Given the description of an element on the screen output the (x, y) to click on. 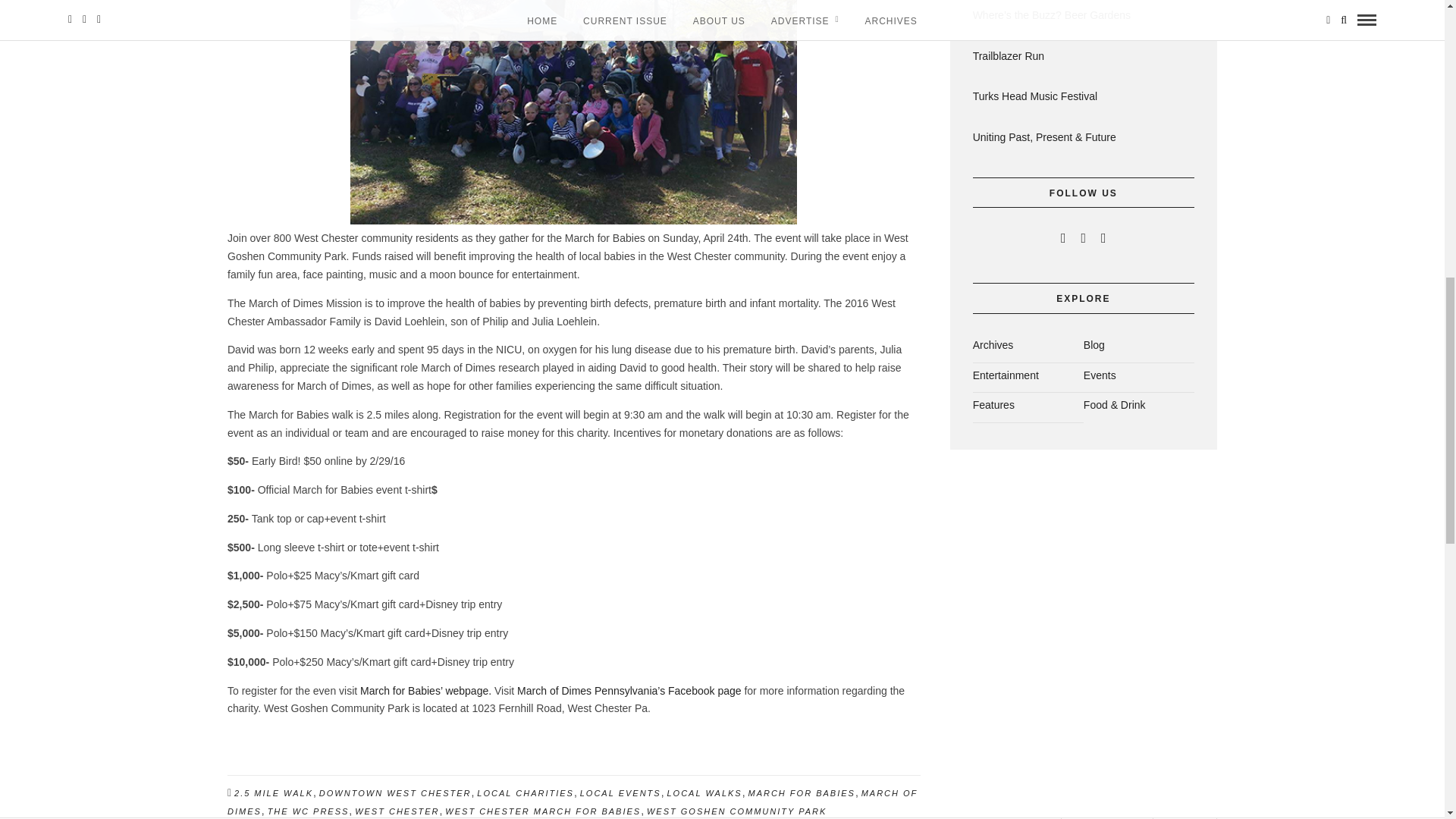
MARCH FOR BABIES (801, 792)
2.5 MILE WALK (273, 792)
MARCH OF DIMES (572, 801)
WEST CHESTER (397, 810)
THE WC PRESS (308, 810)
LOCAL EVENTS (620, 792)
LOCAL WALKS (703, 792)
LOCAL CHARITIES (525, 792)
DOWNTOWN WEST CHESTER (394, 792)
WEST CHESTER MARCH FOR BABIES (542, 810)
